Given the description of an element on the screen output the (x, y) to click on. 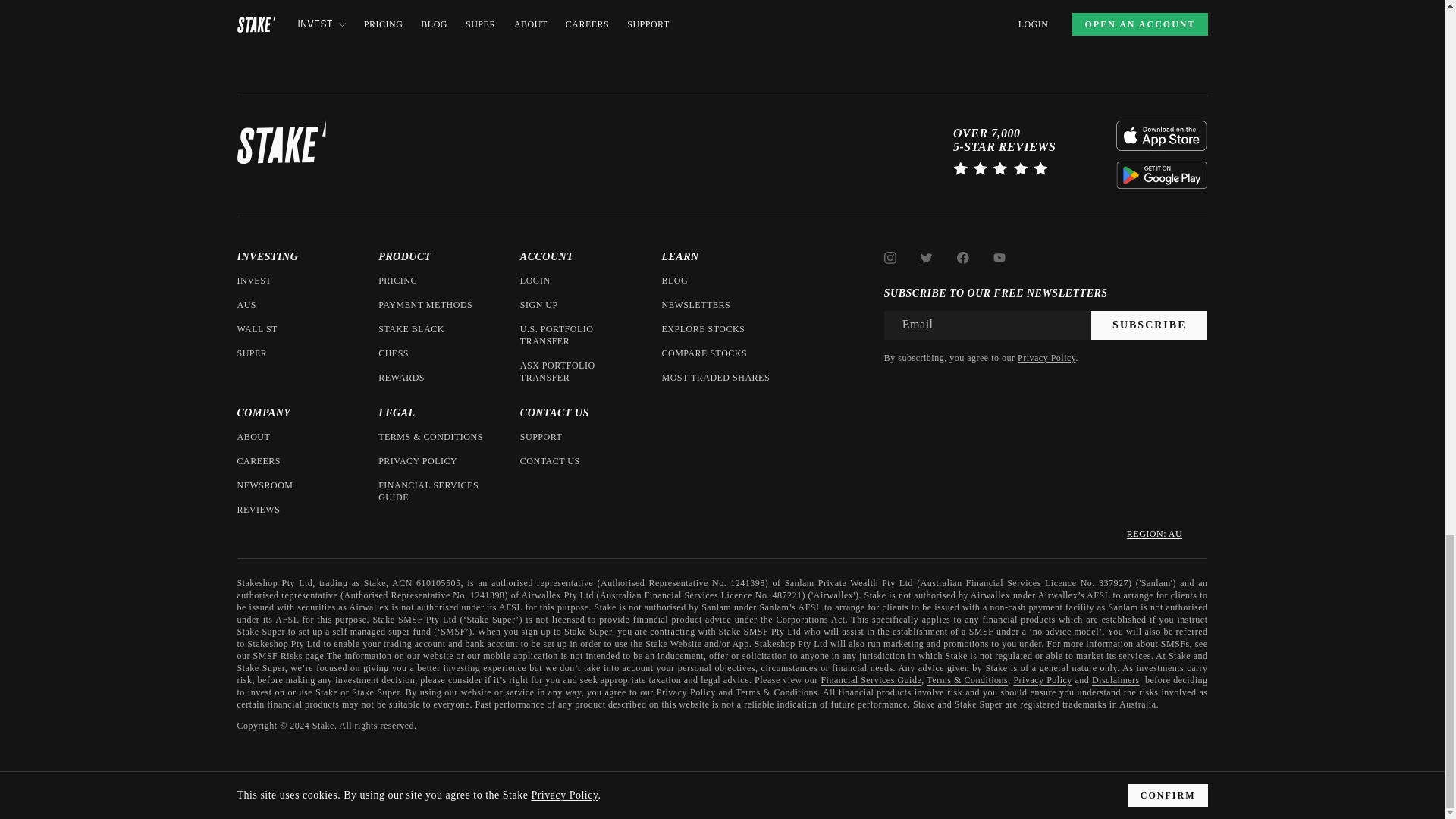
REWARDS (401, 377)
CHESS (393, 353)
WALL ST (255, 328)
STAKE BLACK (411, 328)
AUS (245, 304)
SIGN UP (538, 304)
PAYMENT METHODS (424, 304)
INVEST (252, 280)
SUPER (250, 353)
LOGIN (534, 280)
PRICING (397, 280)
